Given the description of an element on the screen output the (x, y) to click on. 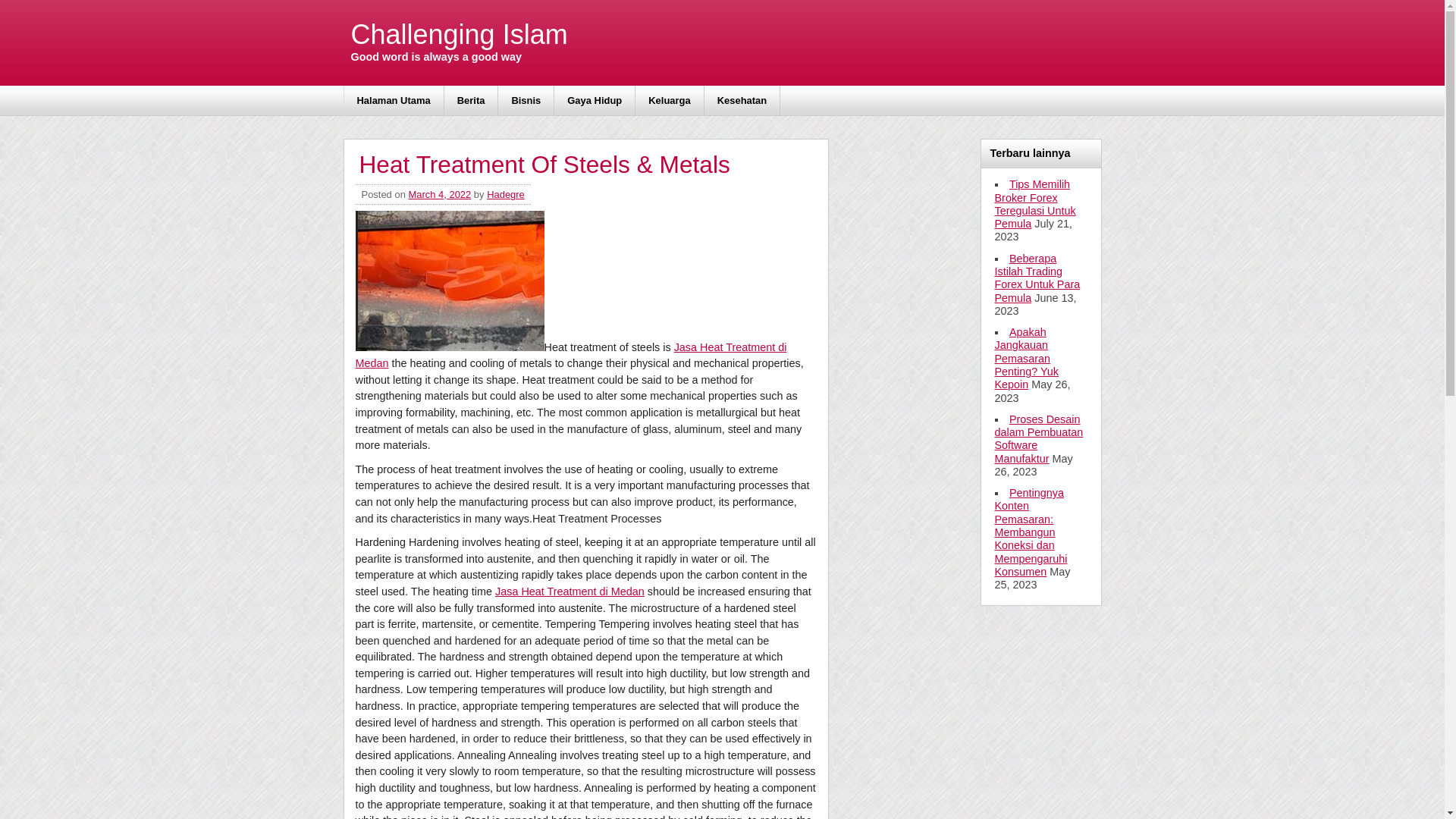
Kesehatan (742, 100)
Tips Memilih Broker Forex Teregulasi Untuk Pemula (1034, 204)
Jasa Heat Treatment di Medan (570, 355)
Gaya Hidup (594, 100)
Jasa Heat Treatment di Medan (570, 591)
Proses Desain dalam Pembuatan Software Manufaktur (1038, 439)
Hadegre (505, 194)
Apakah Jangkauan Pemasaran Penting? Yuk Kepoin (1026, 357)
Beberapa Istilah Trading Forex Untuk Para Pemula (1037, 277)
Posts by Hadegre (505, 194)
Challenging Islam (458, 34)
Keluarga (668, 100)
Halaman Utama (393, 100)
Bisnis (525, 100)
